Given the description of an element on the screen output the (x, y) to click on. 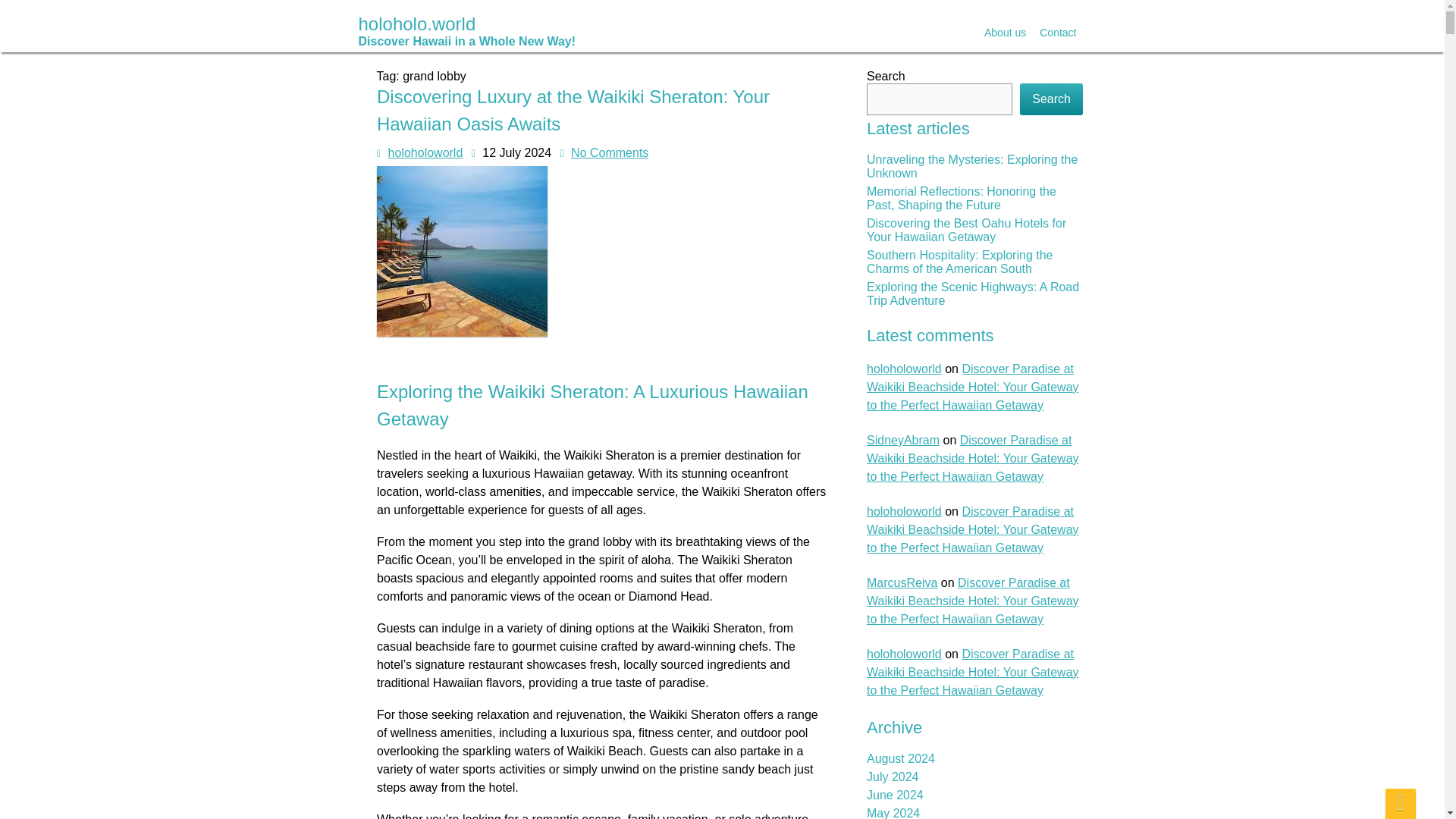
About us (1004, 32)
Contact (1057, 32)
Posts by holoholoworld (425, 152)
holoholo.world (466, 30)
No Comments (626, 712)
holoholo.world (466, 30)
holoholoworld (548, 766)
